Given the description of an element on the screen output the (x, y) to click on. 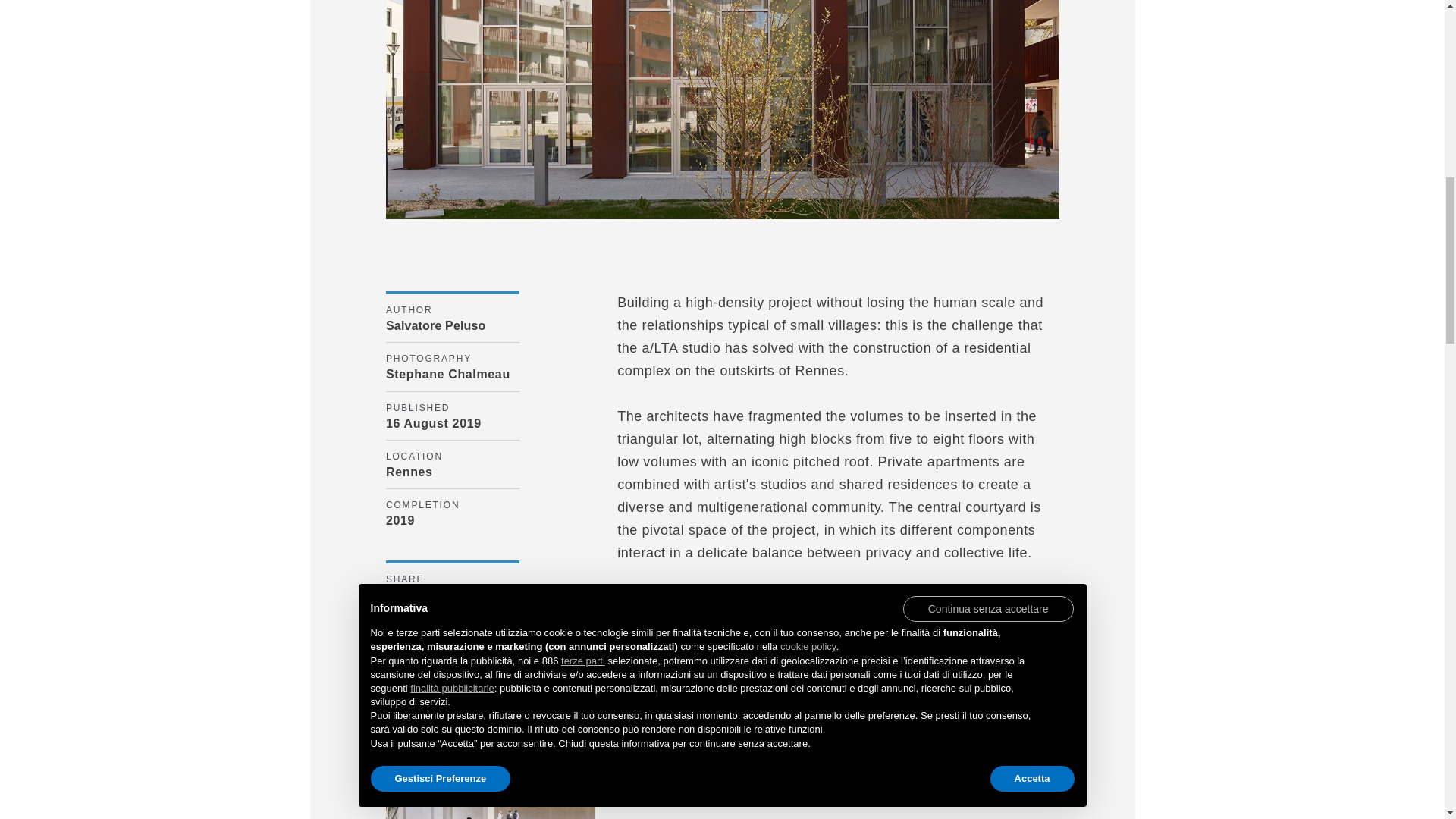
50 museums to visit in a lifetime (489, 771)
